Given the description of an element on the screen output the (x, y) to click on. 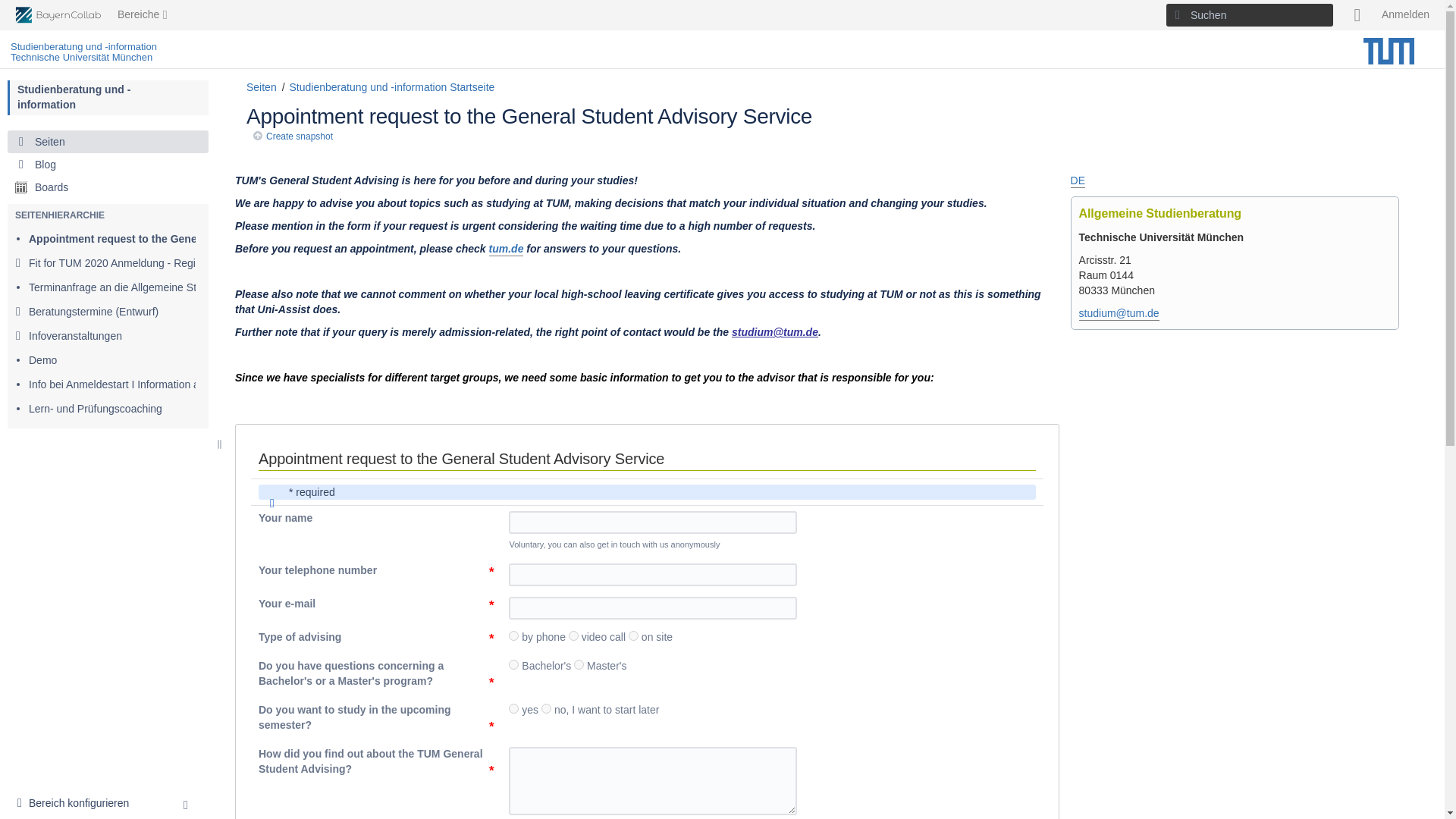
1 (513, 664)
Hilfe (1357, 15)
2 (573, 635)
Anmelden (1405, 15)
3 (633, 635)
1 (513, 635)
Seiten (107, 141)
Blog (107, 164)
2 (578, 664)
Studienberatung und -information (74, 96)
